Given the description of an element on the screen output the (x, y) to click on. 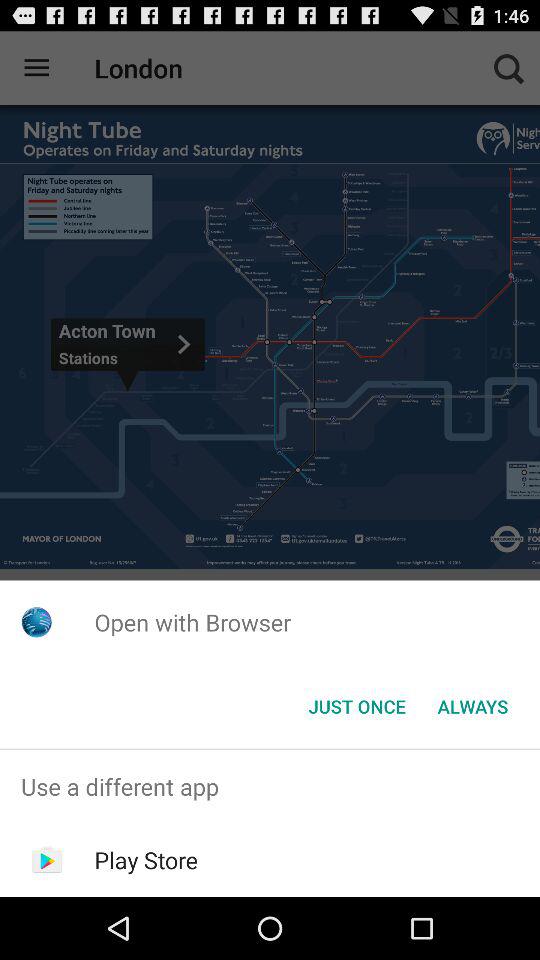
scroll until play store (146, 860)
